Given the description of an element on the screen output the (x, y) to click on. 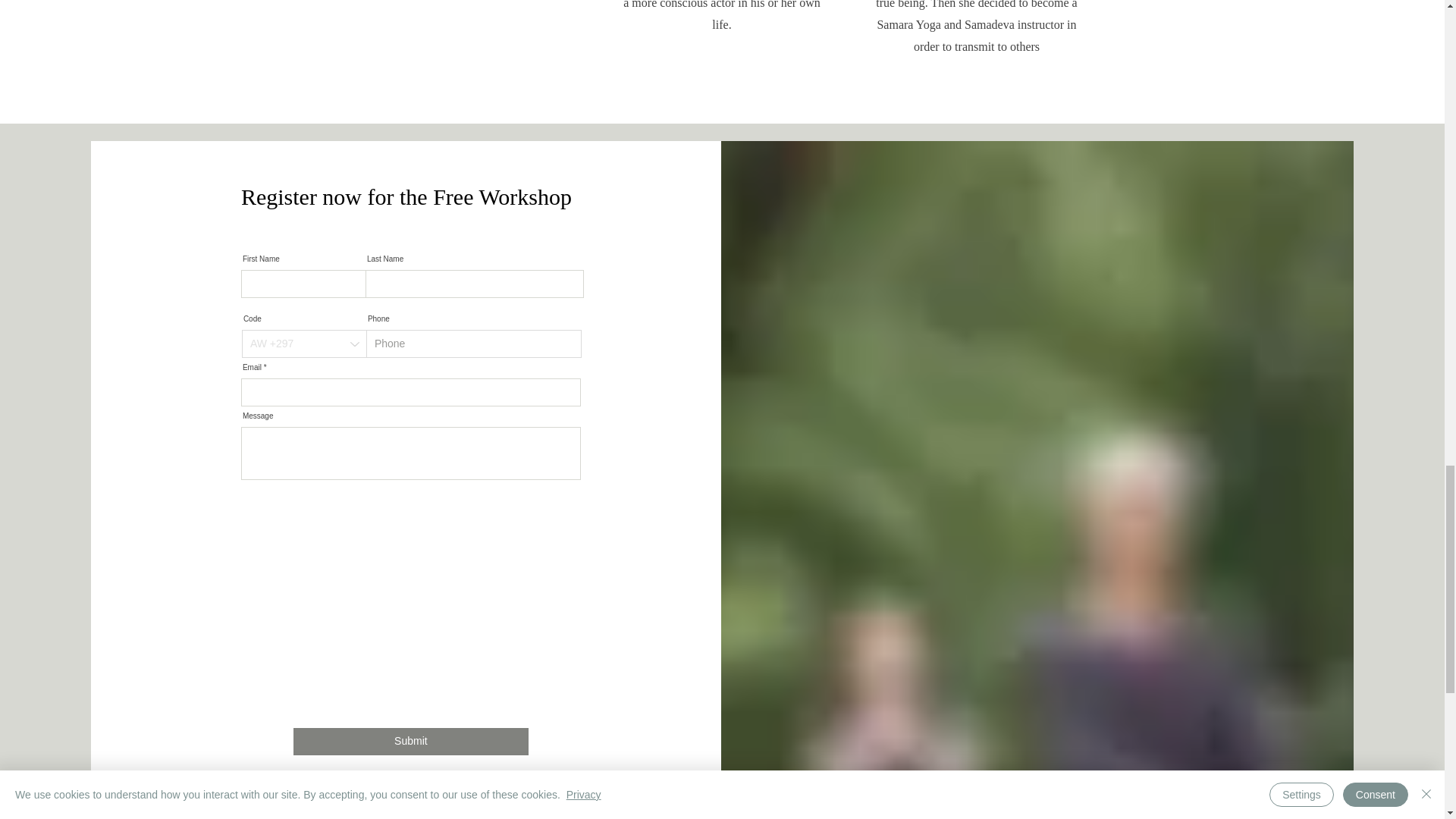
Submit (411, 741)
